Given the description of an element on the screen output the (x, y) to click on. 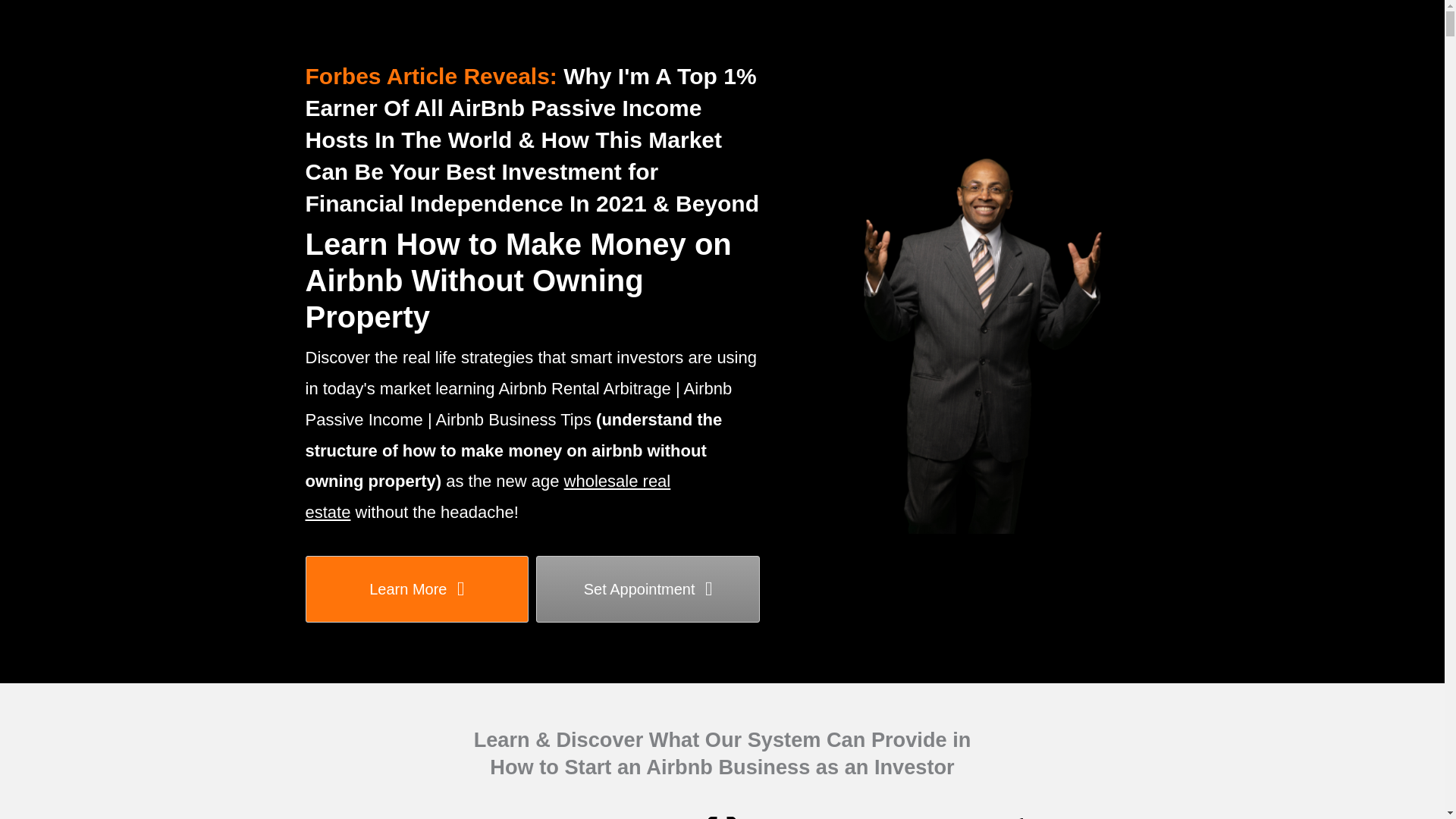
wholesale real estate (486, 496)
Set Appointment (647, 589)
Learn More (416, 589)
199 (1000, 815)
151 (444, 815)
162 (721, 815)
